Given the description of an element on the screen output the (x, y) to click on. 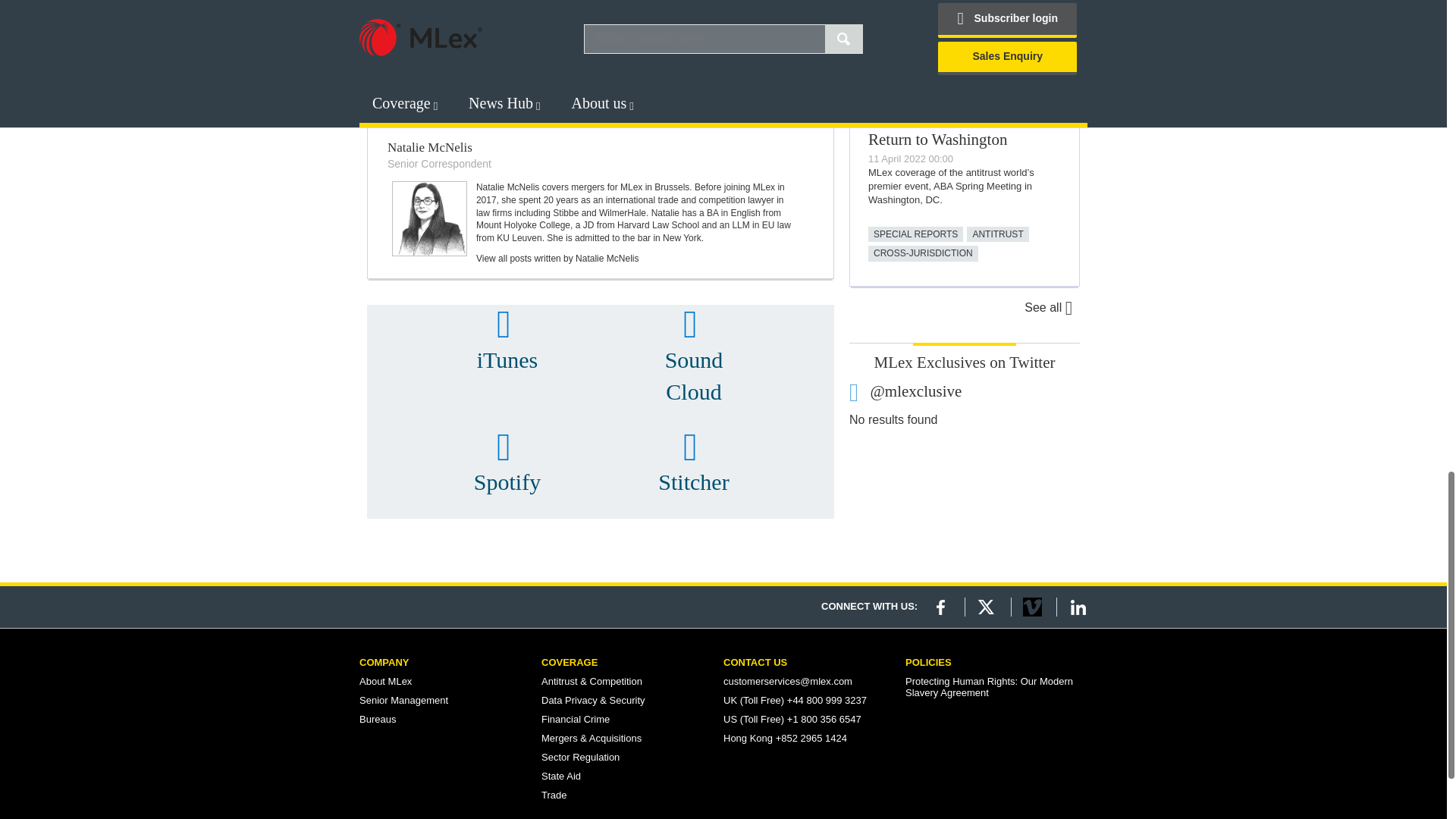
Nicholas Hirst (429, 53)
Find us on LinkedIn (1077, 606)
Find us on Facebook (940, 606)
Find us on Twitter (985, 606)
Find us on Vimeo (1032, 606)
Natalie McNelis (429, 218)
